Given the description of an element on the screen output the (x, y) to click on. 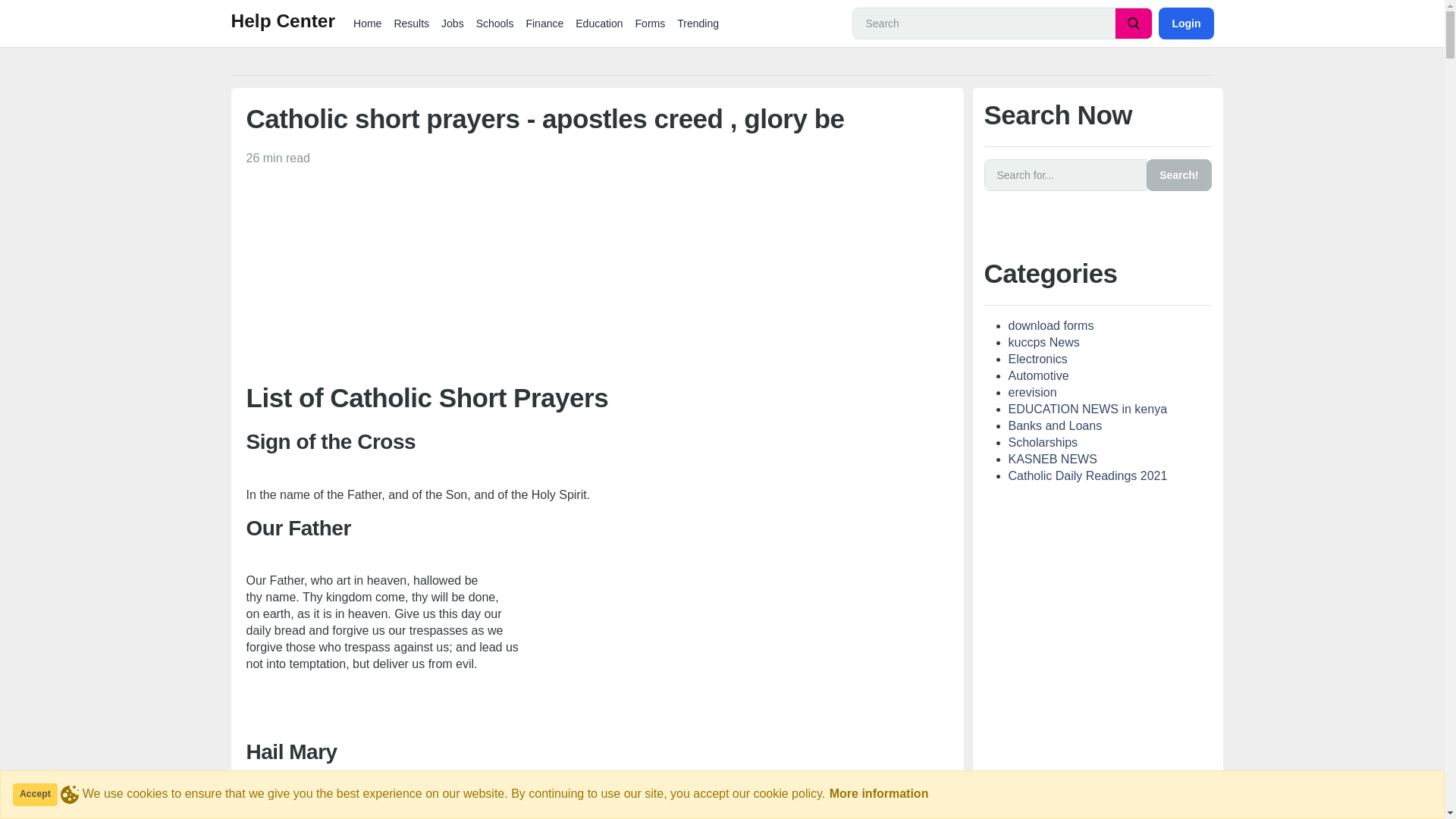
Login (1185, 23)
Search! (1179, 174)
Results (411, 23)
Electronics (1038, 358)
kuccps News (1044, 341)
Schools (494, 23)
erevision (1033, 391)
Education (598, 23)
Help Center (282, 23)
